Given the description of an element on the screen output the (x, y) to click on. 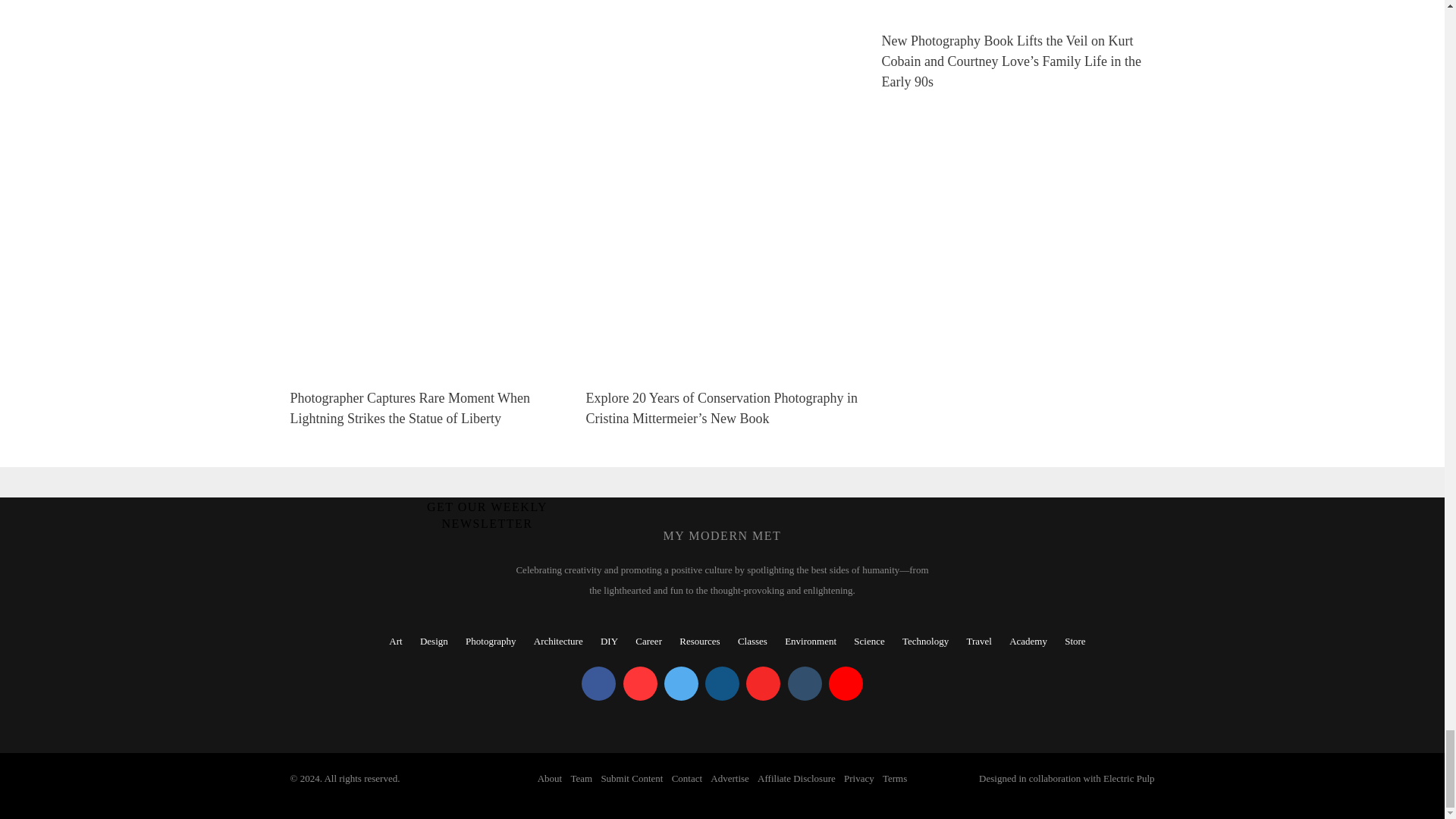
My Modern Met on Tumblr (804, 683)
My Modern Met on Twitter (680, 683)
My Modern Met on Pinterest (640, 683)
My Modern Met on YouTube (845, 683)
My Modern Met on Instagram (721, 683)
My Modern Met on Facebook (597, 683)
